Given the description of an element on the screen output the (x, y) to click on. 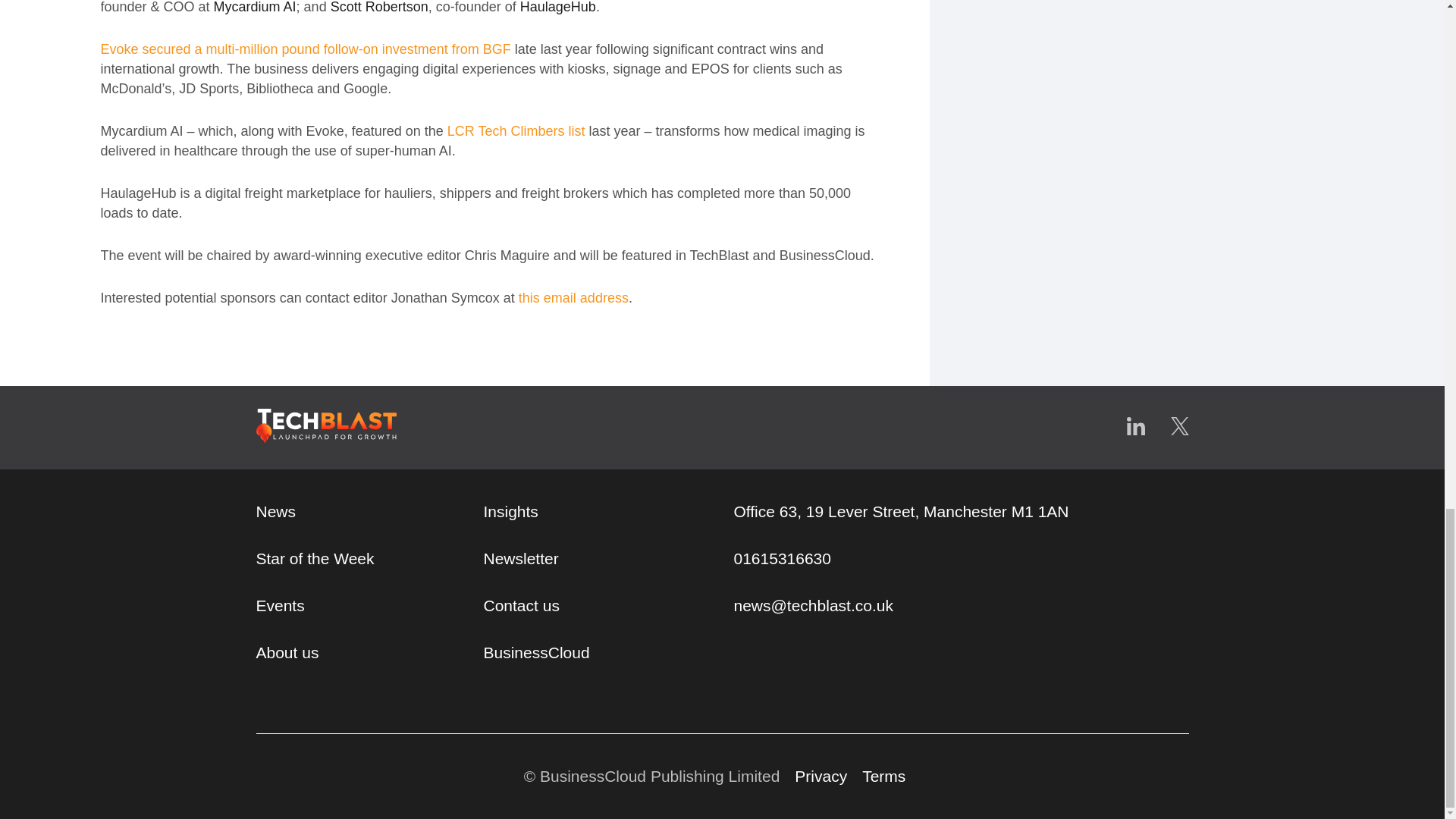
LCR Tech Climbers list (515, 130)
this email address (573, 297)
